Given the description of an element on the screen output the (x, y) to click on. 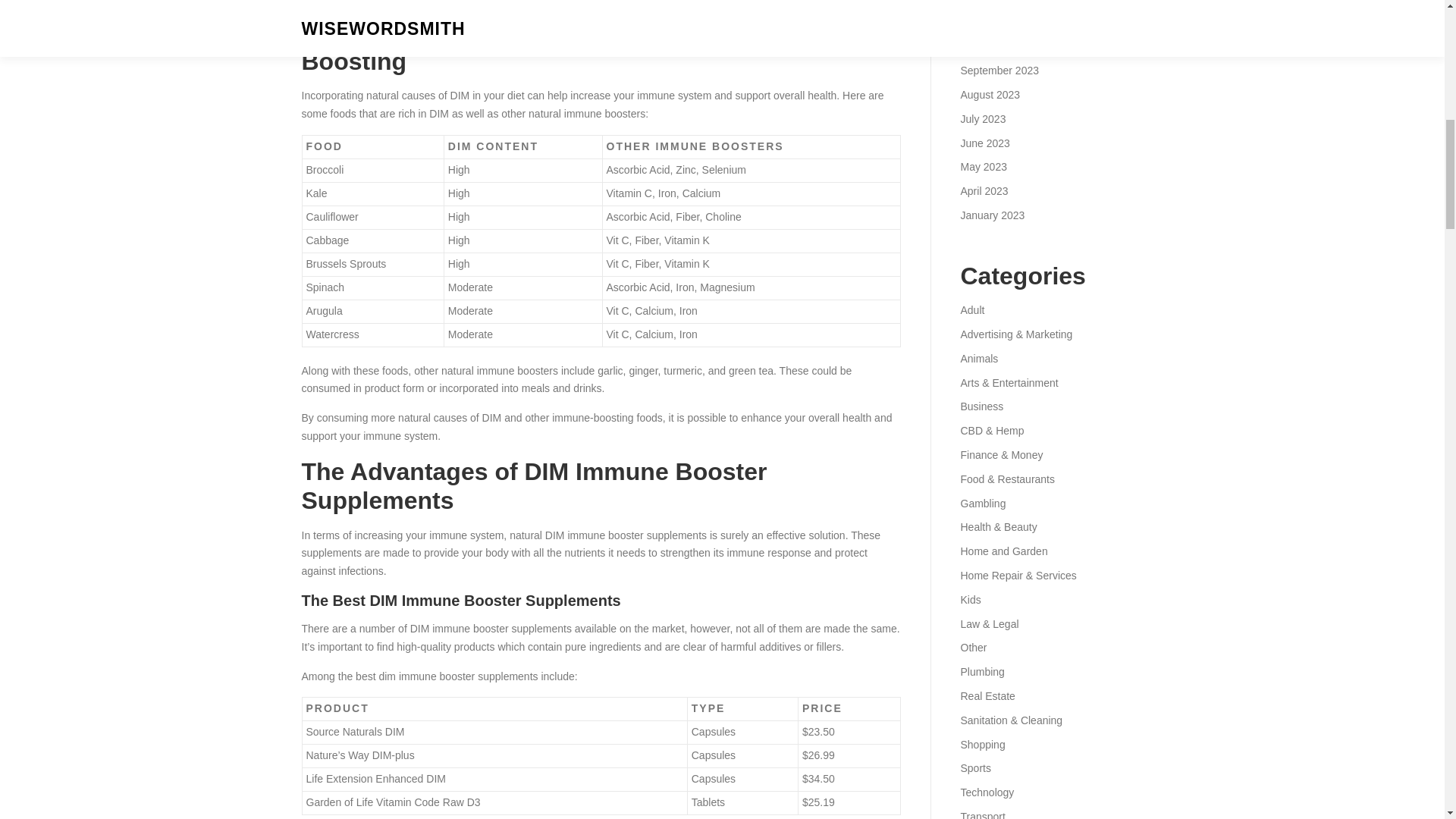
July 2023 (982, 119)
Animals (978, 358)
Business (981, 406)
December 2023 (997, 2)
June 2023 (984, 143)
January 2023 (992, 215)
Adult (971, 309)
May 2023 (982, 166)
April 2023 (983, 191)
September 2023 (999, 70)
